Given the description of an element on the screen output the (x, y) to click on. 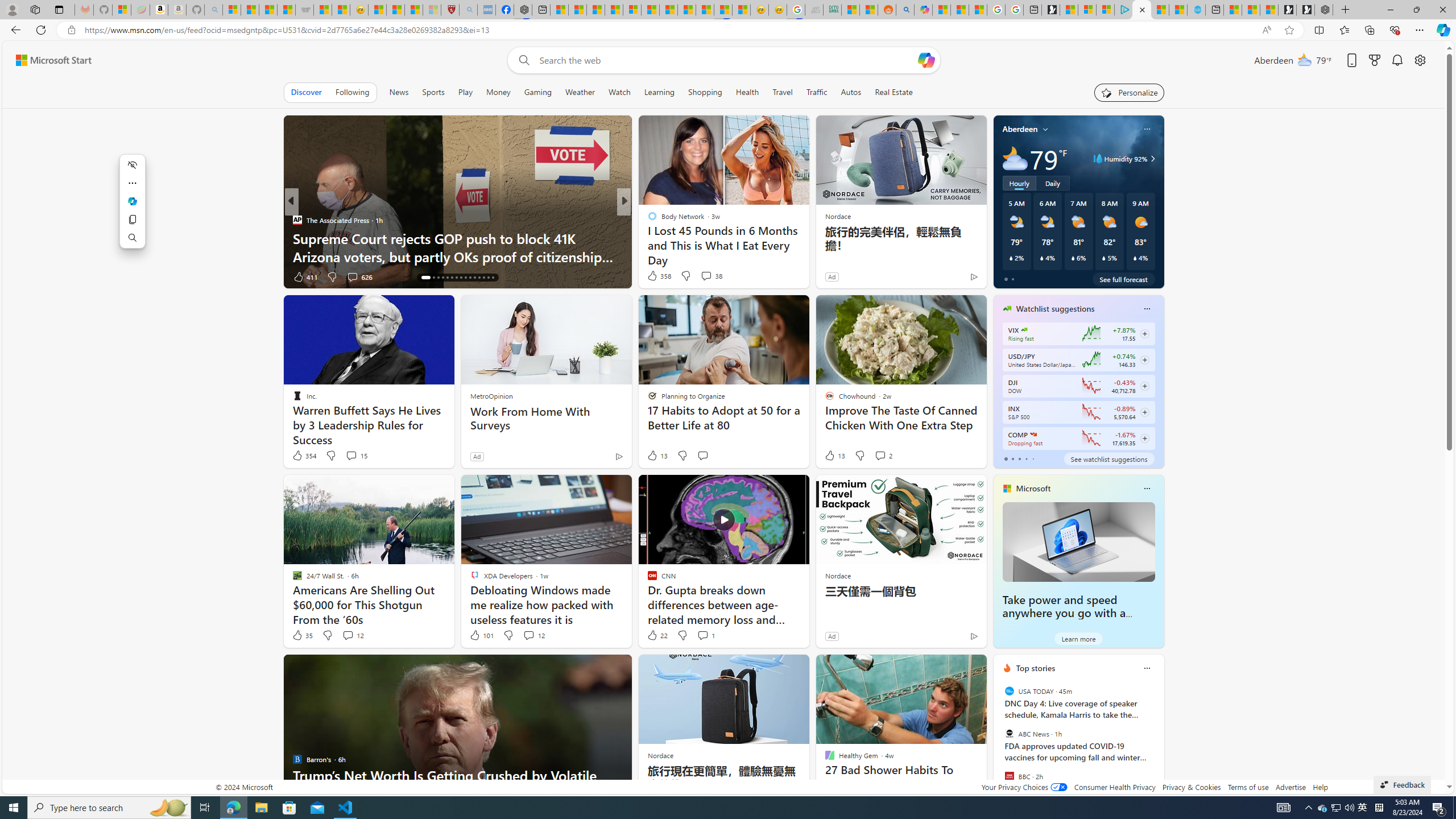
View comments 626 Comment (352, 276)
22 Like (657, 634)
Hide menu (132, 164)
AutomationID: tab-28 (483, 277)
AutomationID: tab-23 (460, 277)
Aberdeen (1019, 128)
View comments 38 Comment (710, 275)
